Given the description of an element on the screen output the (x, y) to click on. 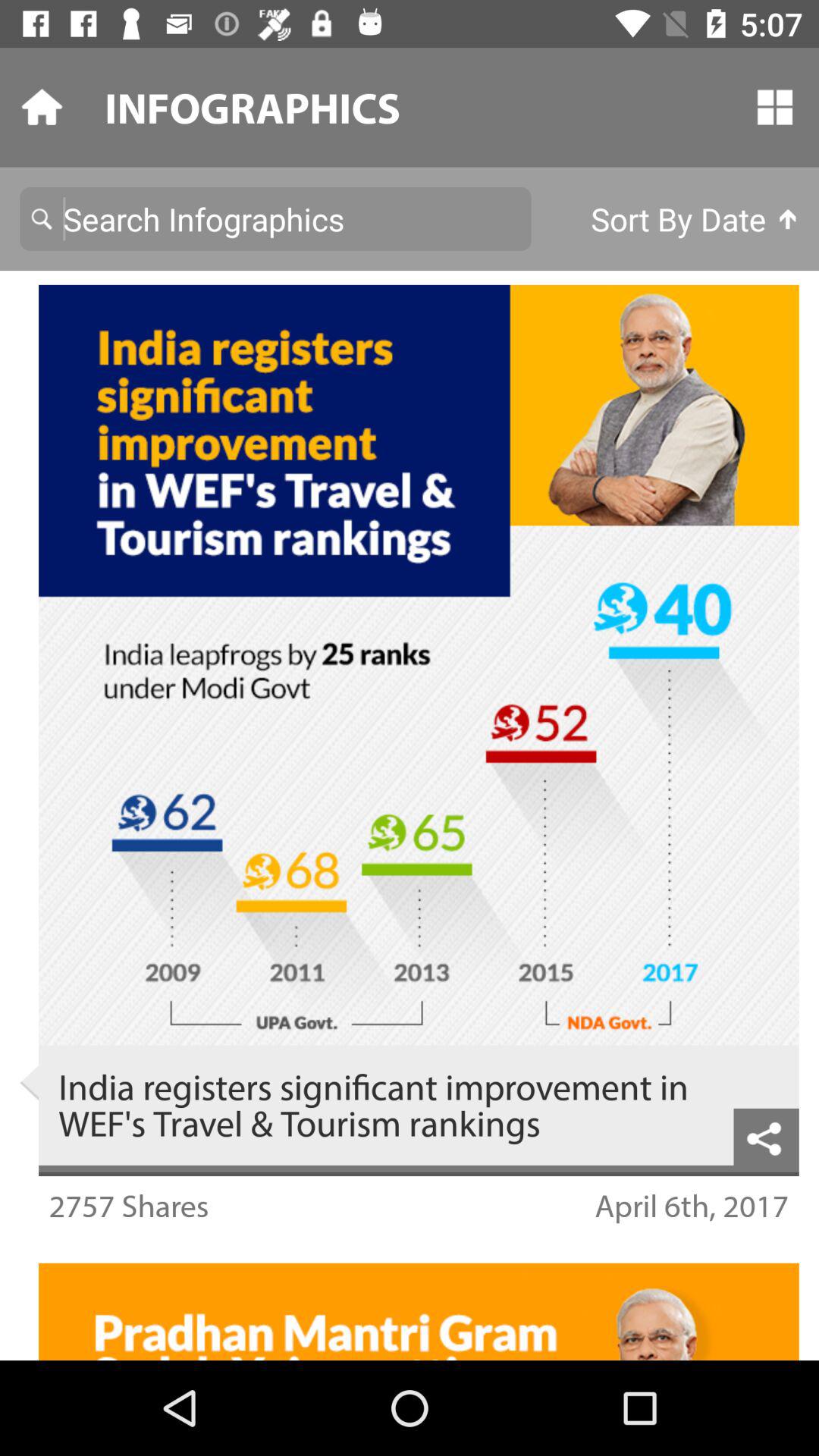
scroll to the 2757 shares icon (128, 1205)
